Given the description of an element on the screen output the (x, y) to click on. 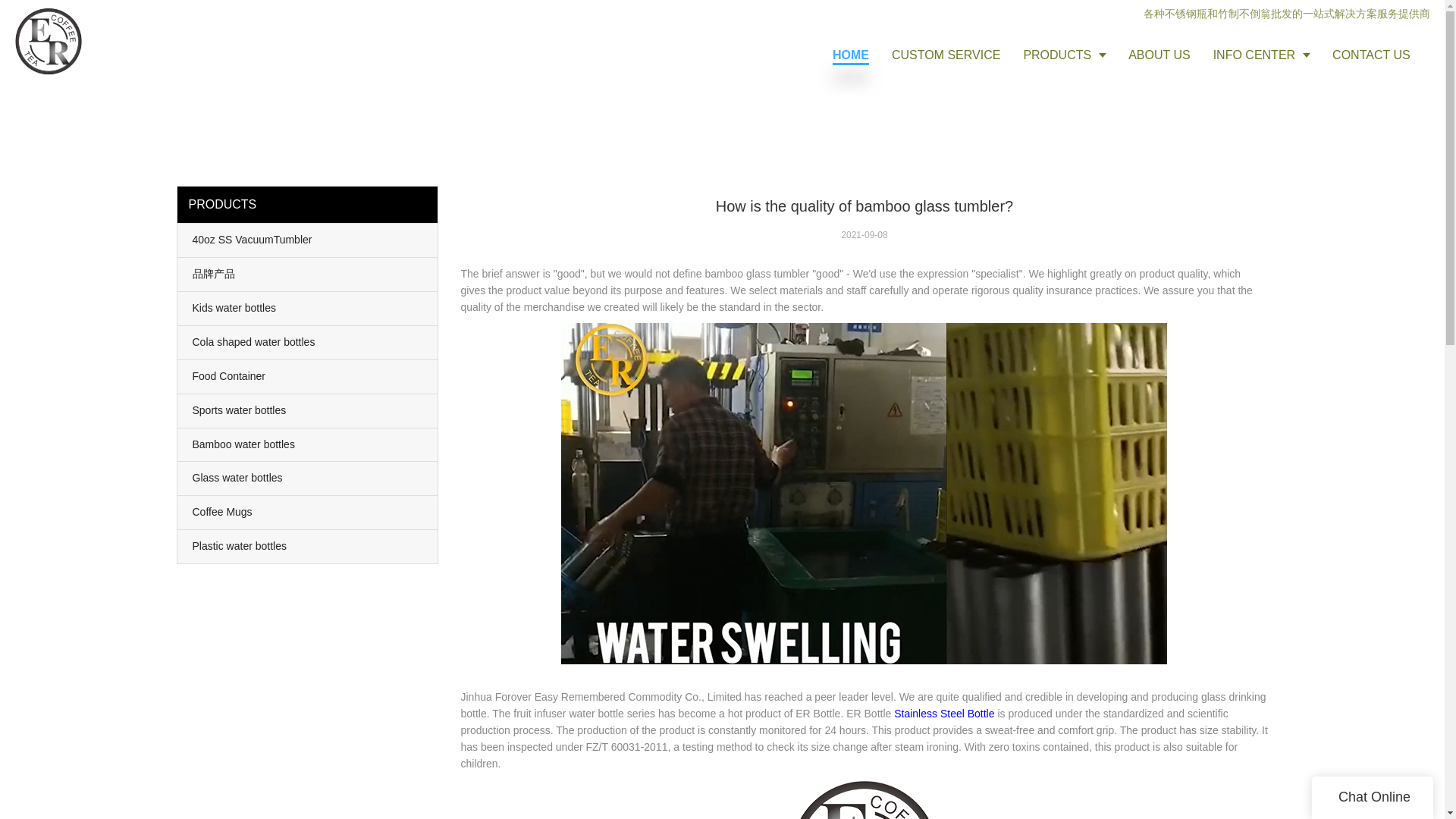
CONTACT US (1371, 55)
Cola shaped water bottles (307, 342)
PRODUCTS (1063, 55)
40oz SS VacuumTumbler (307, 240)
CUSTOM SERVICE (945, 55)
Coffee Mugs (307, 512)
Kids water bottles (307, 308)
Bamboo water bottles (307, 444)
Glass water bottles (307, 478)
Food Container (307, 376)
INFO CENTER (1261, 55)
Plastic water bottles (307, 546)
Stainless Steel Bottle (943, 713)
HOME (850, 55)
ABOUT US (1159, 55)
